Given the description of an element on the screen output the (x, y) to click on. 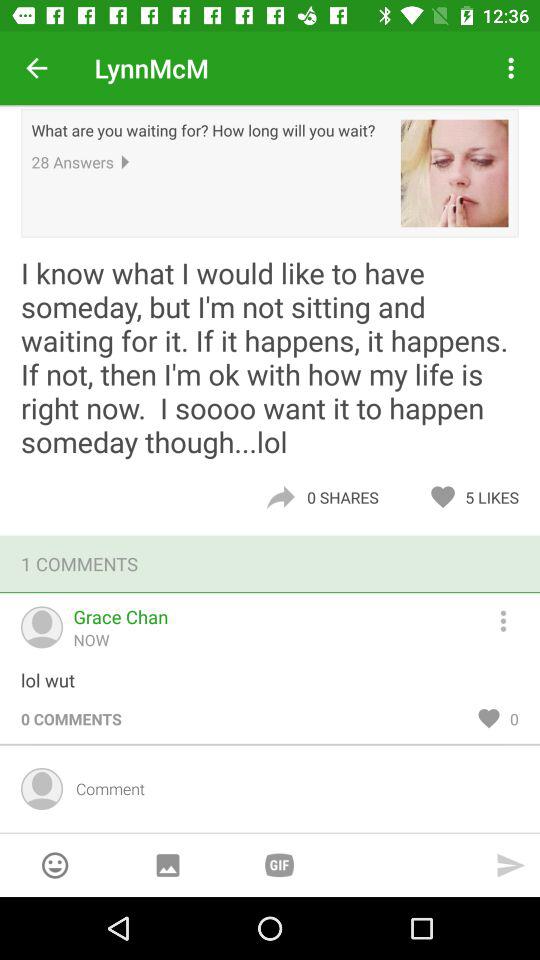
flip to 5 likes icon (497, 497)
